Given the description of an element on the screen output the (x, y) to click on. 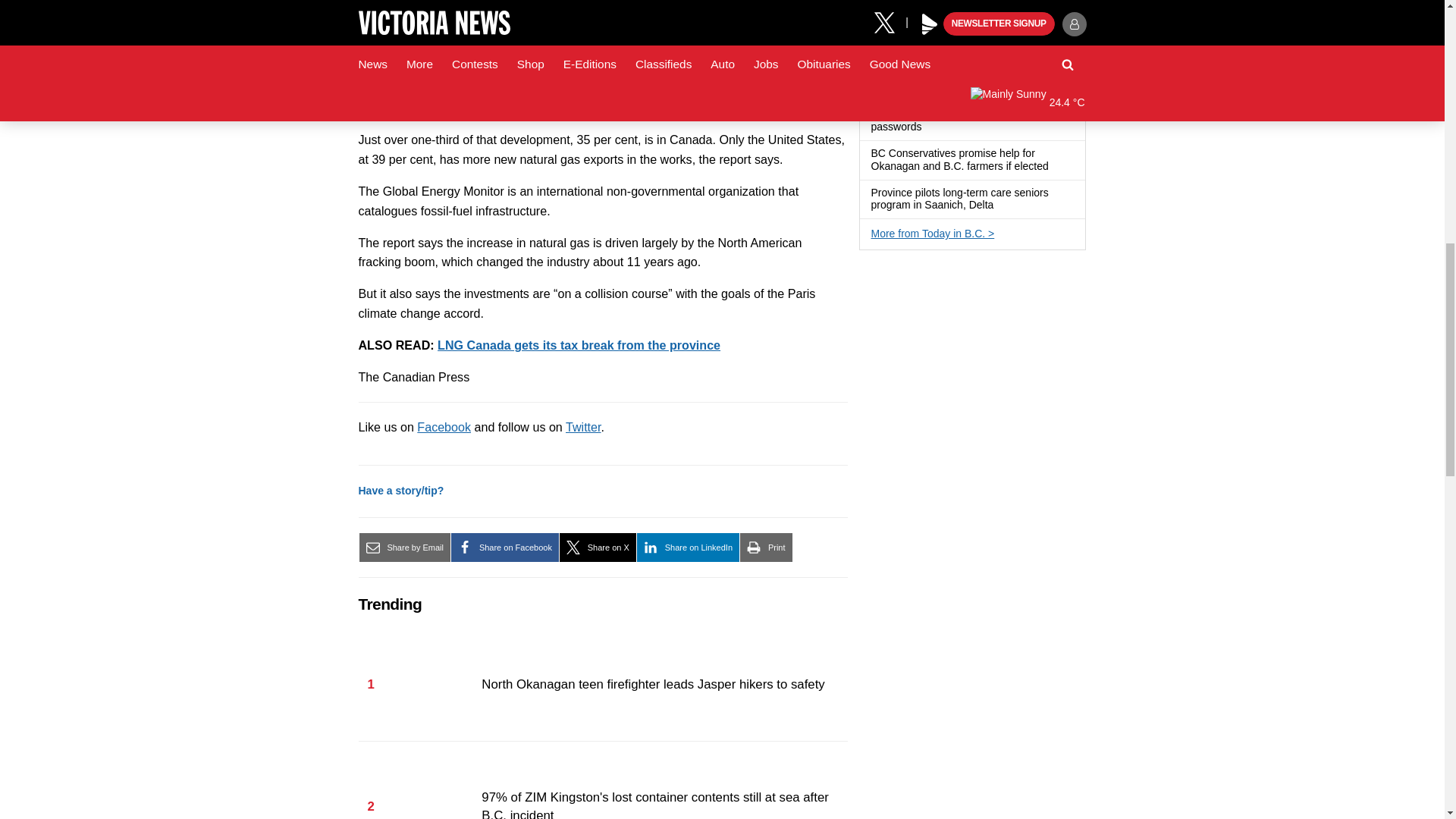
Has a gallery (1035, 36)
